Given the description of an element on the screen output the (x, y) to click on. 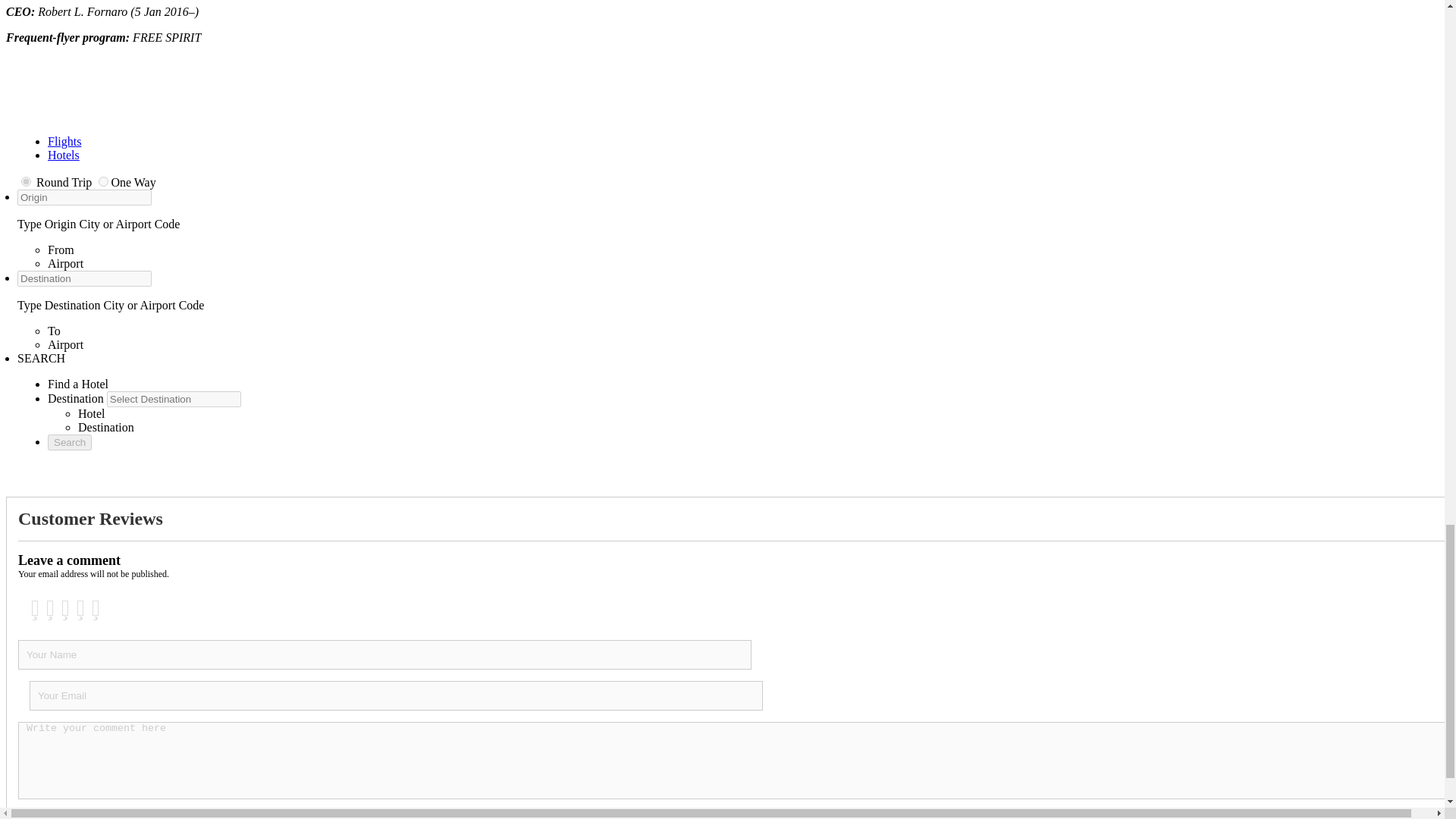
Search (69, 442)
Hotels (64, 154)
Flights (64, 141)
1 (103, 181)
Submit (44, 814)
0 (25, 181)
